Given the description of an element on the screen output the (x, y) to click on. 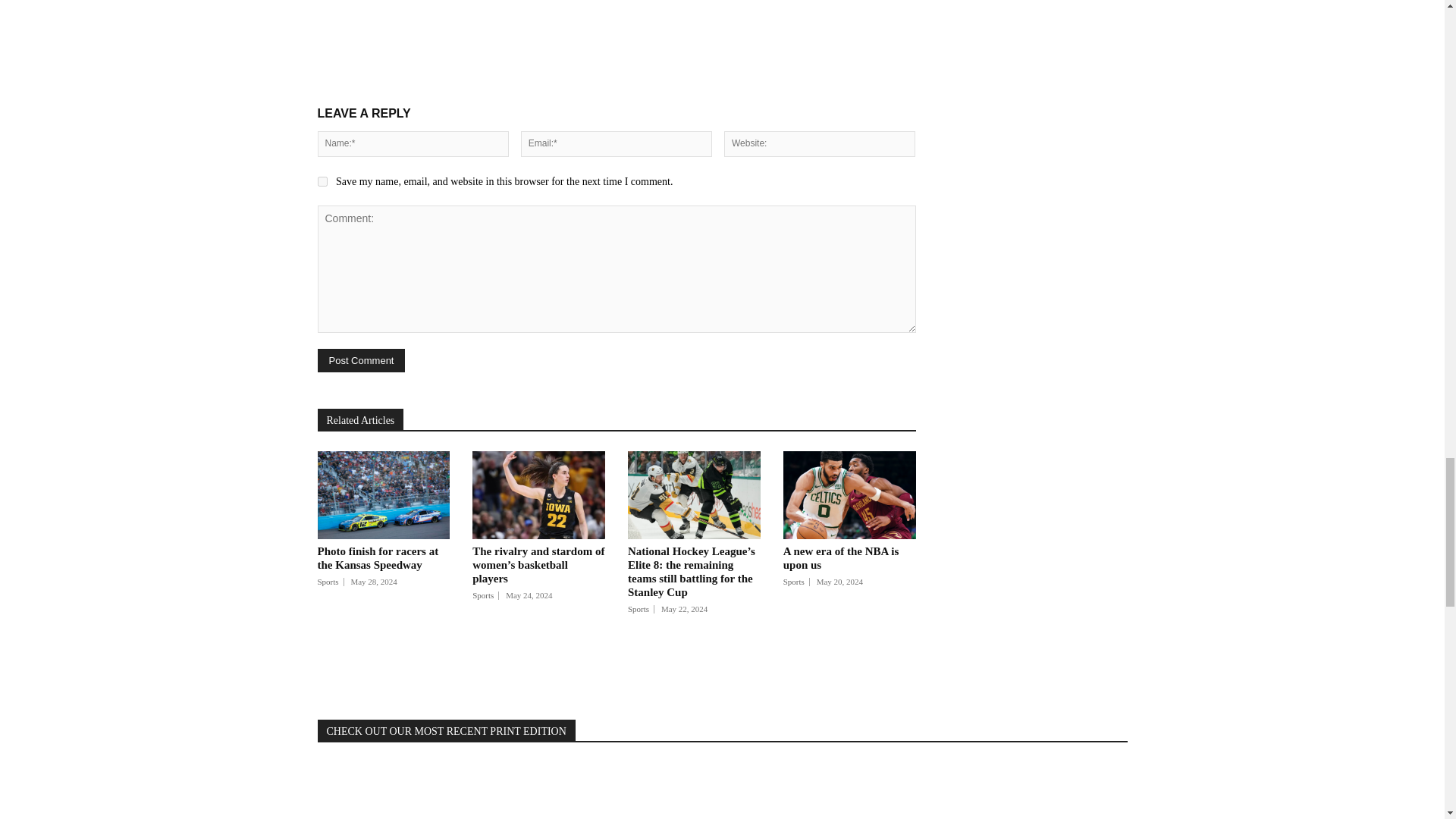
yes (321, 181)
Post Comment (360, 360)
